Given the description of an element on the screen output the (x, y) to click on. 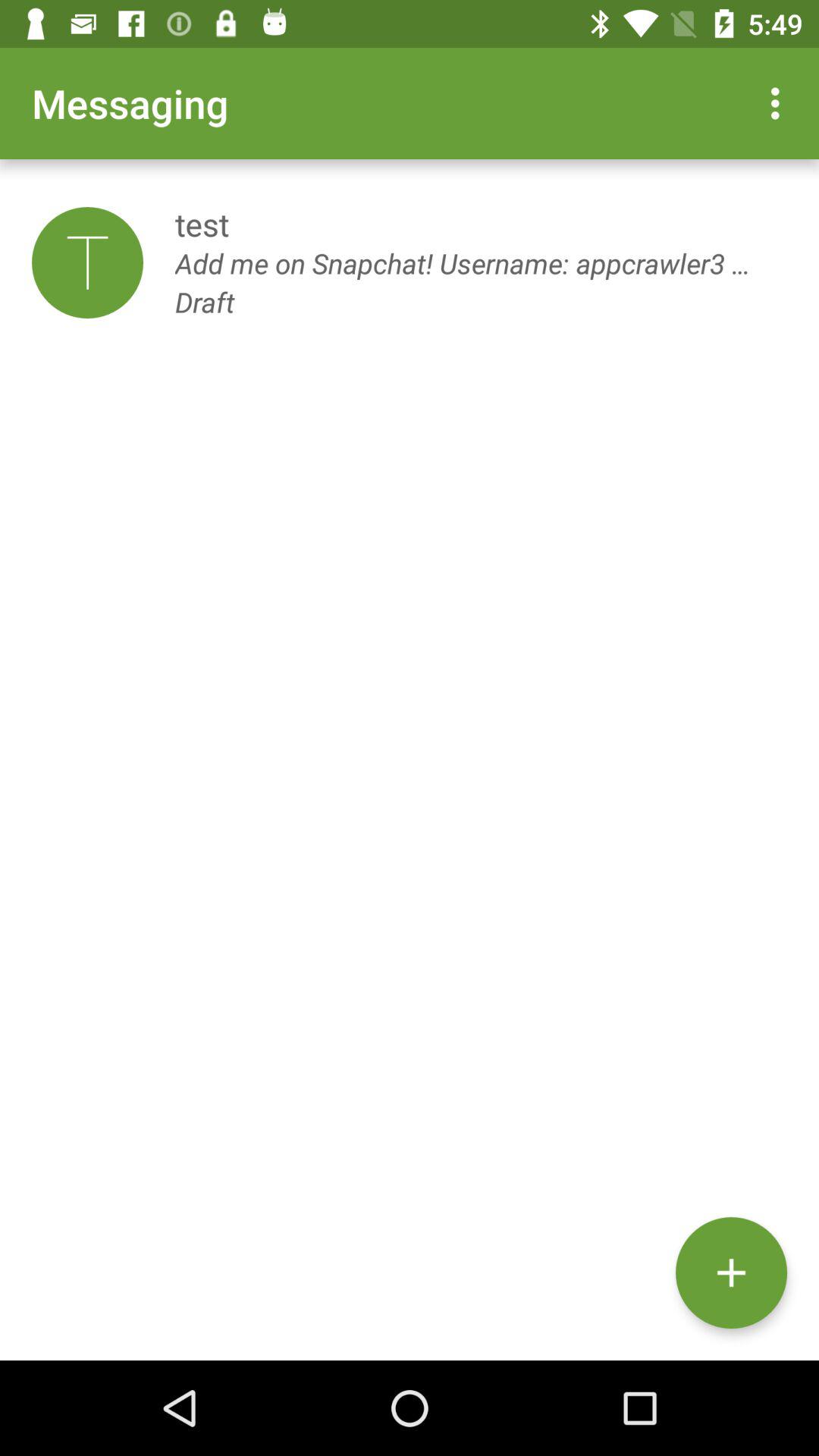
open the icon at the bottom right corner (731, 1272)
